Given the description of an element on the screen output the (x, y) to click on. 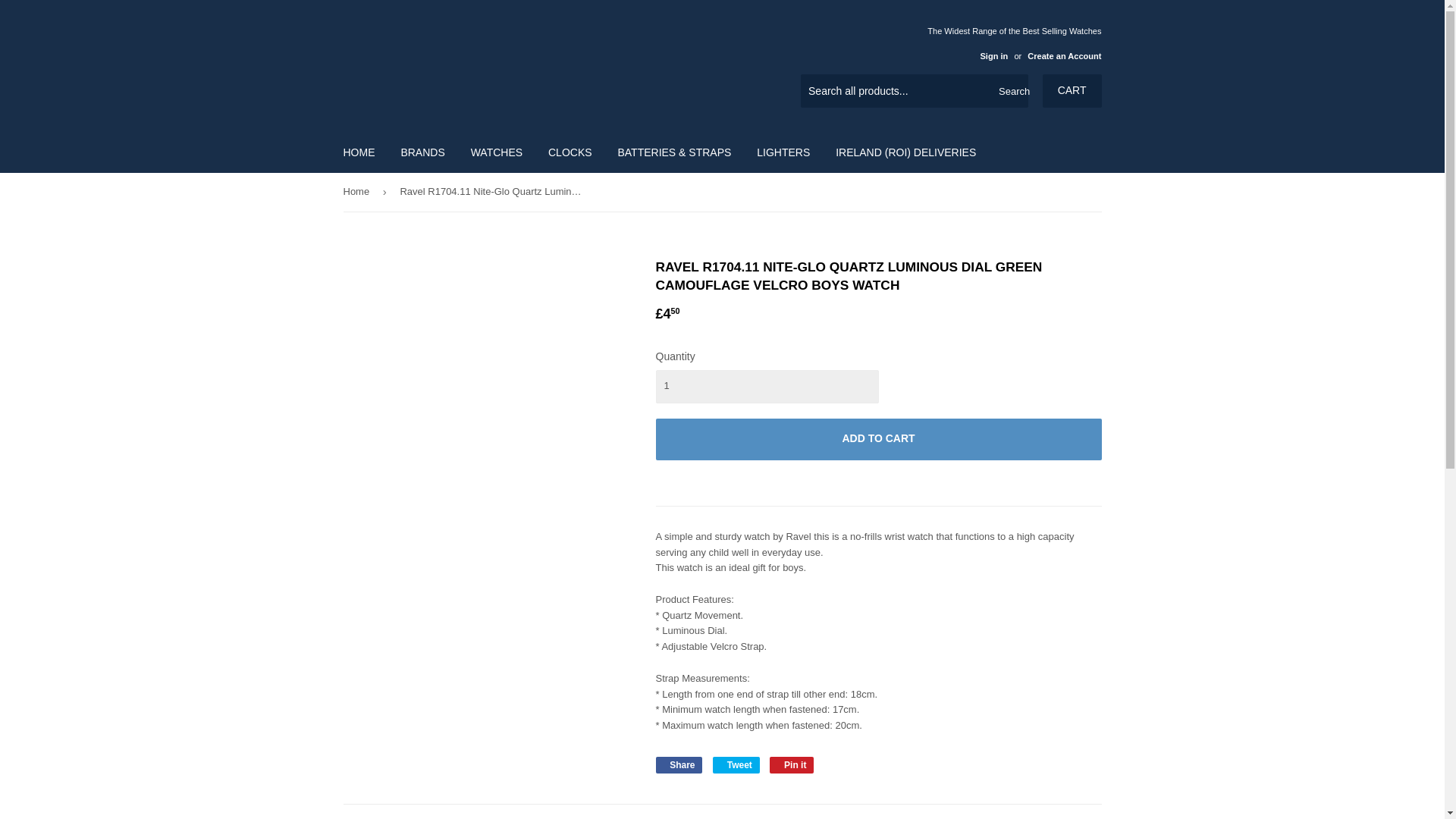
1 (766, 386)
Share on Facebook (678, 764)
Create an Account (1063, 55)
CART (1072, 90)
Tweet on Twitter (736, 764)
Search (1010, 91)
Pin on Pinterest (791, 764)
Sign in (993, 55)
